Given the description of an element on the screen output the (x, y) to click on. 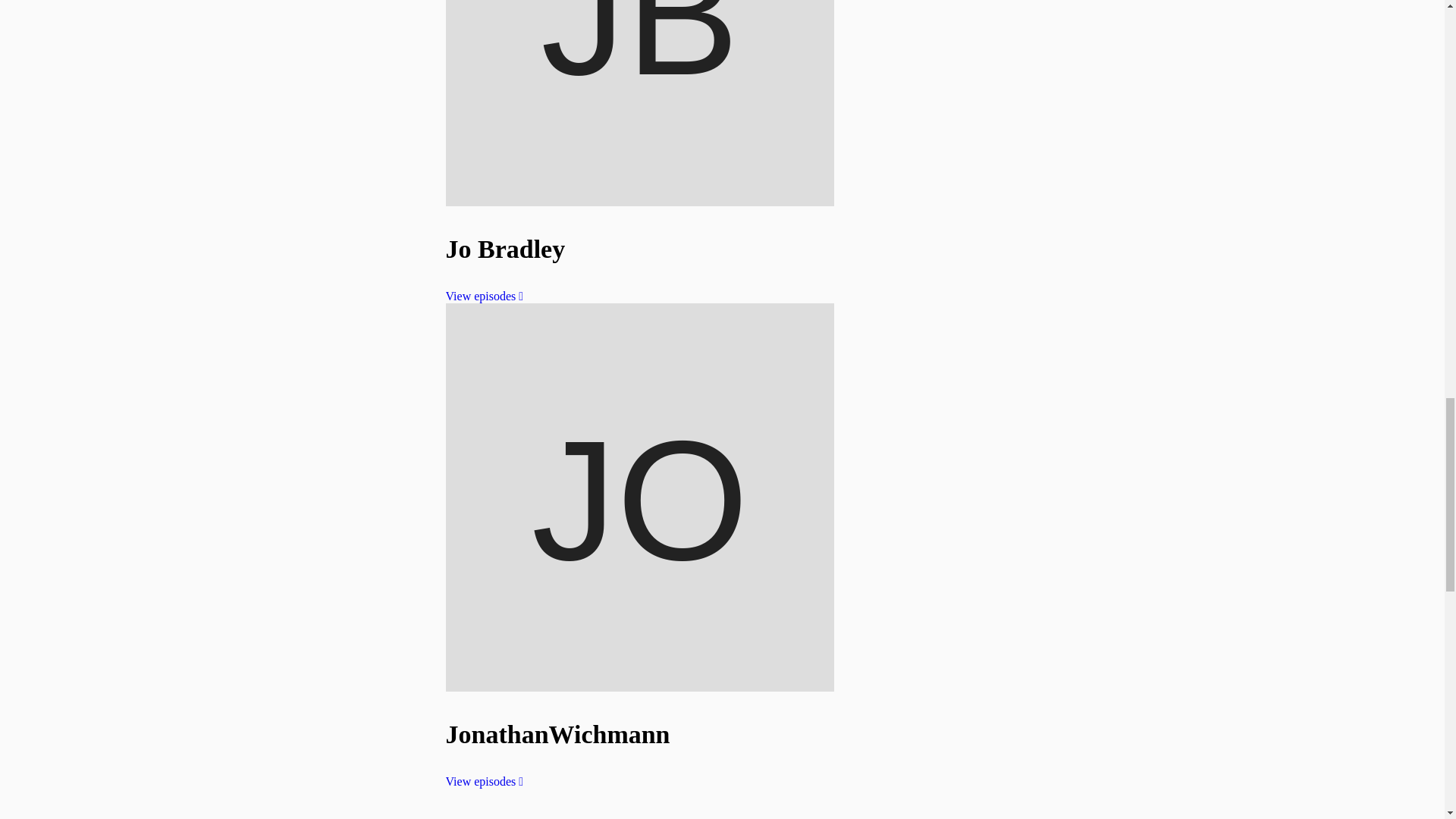
View episodes (484, 295)
View episodes (484, 780)
